Given the description of an element on the screen output the (x, y) to click on. 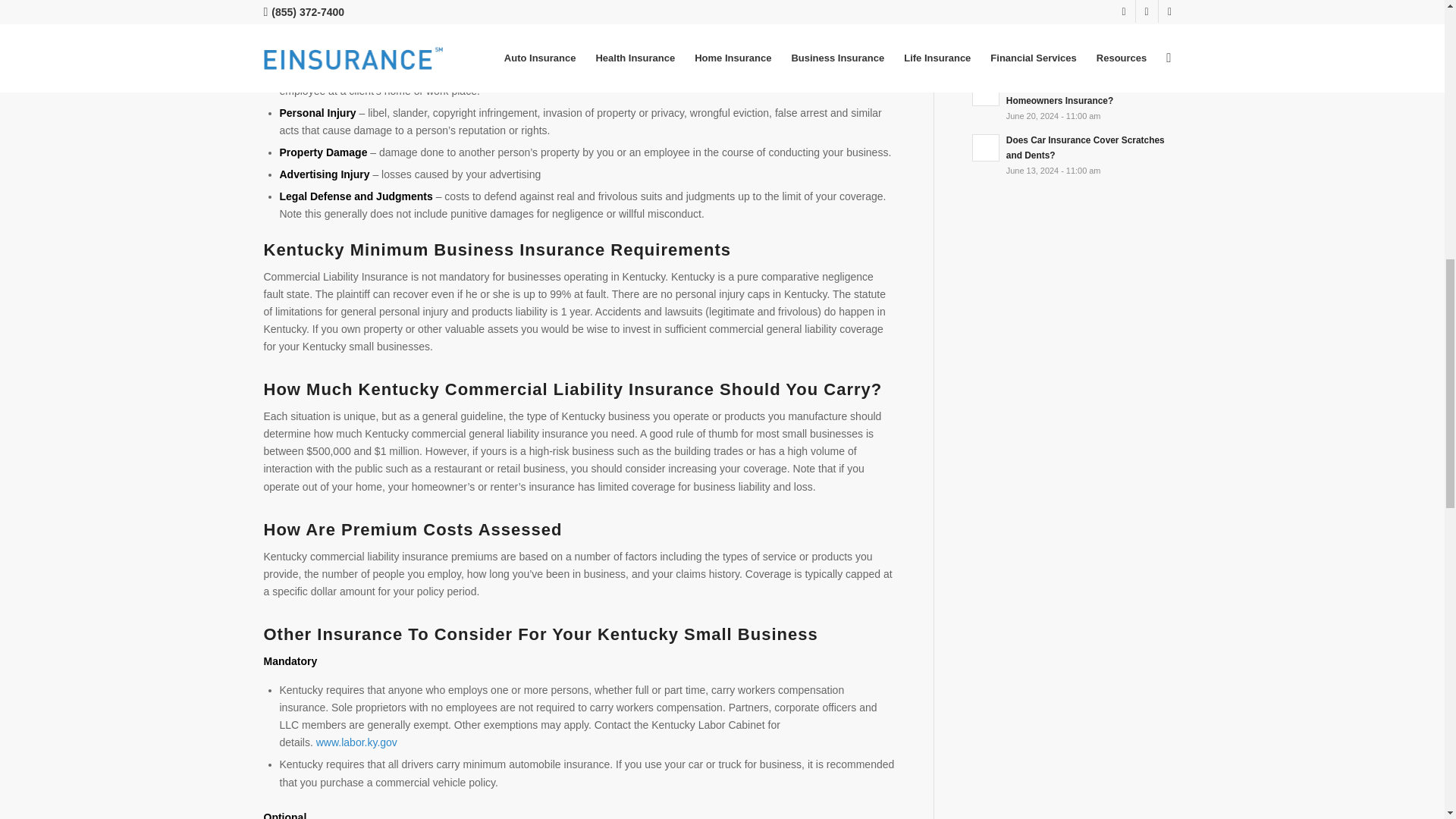
Common Home Insurance Claims and How to Prevent Them (1076, 6)
Does Car Insurance Cover Scratches and Dents? (1076, 155)
Does Climate Change Affect Your Homeowners Insurance? (1076, 99)
